Given the description of an element on the screen output the (x, y) to click on. 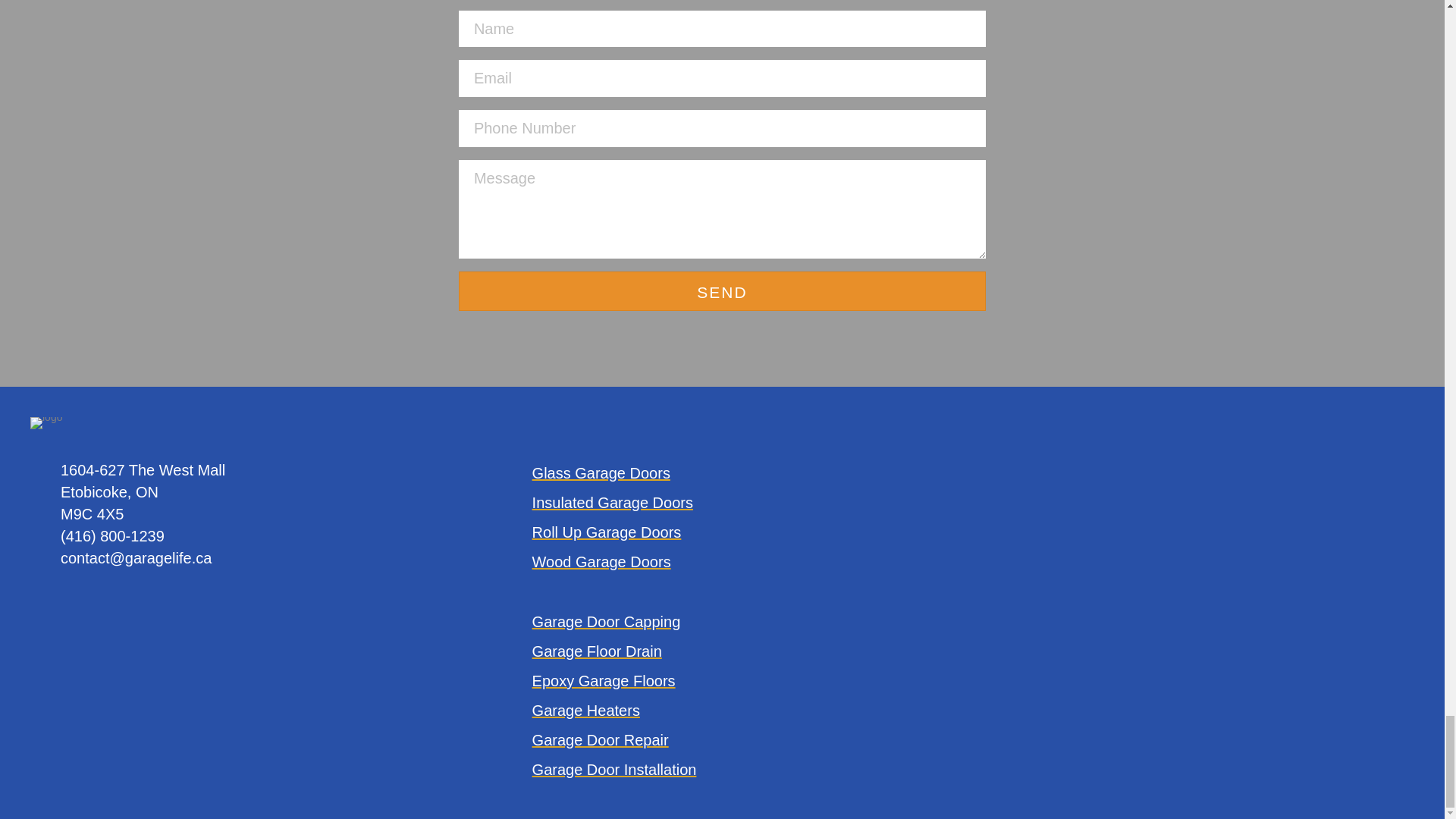
Insulated Garage Doors (612, 502)
Garage Heaters (586, 710)
Epoxy Garage Floors (603, 680)
Garage Floor Drain (597, 651)
Roll Up Garage Doors (606, 532)
SEND (721, 291)
Garage Door Installation (614, 769)
Glass Garage Doors (600, 473)
Wood Garage Doors (601, 561)
Garage Door Repair (600, 740)
